Given the description of an element on the screen output the (x, y) to click on. 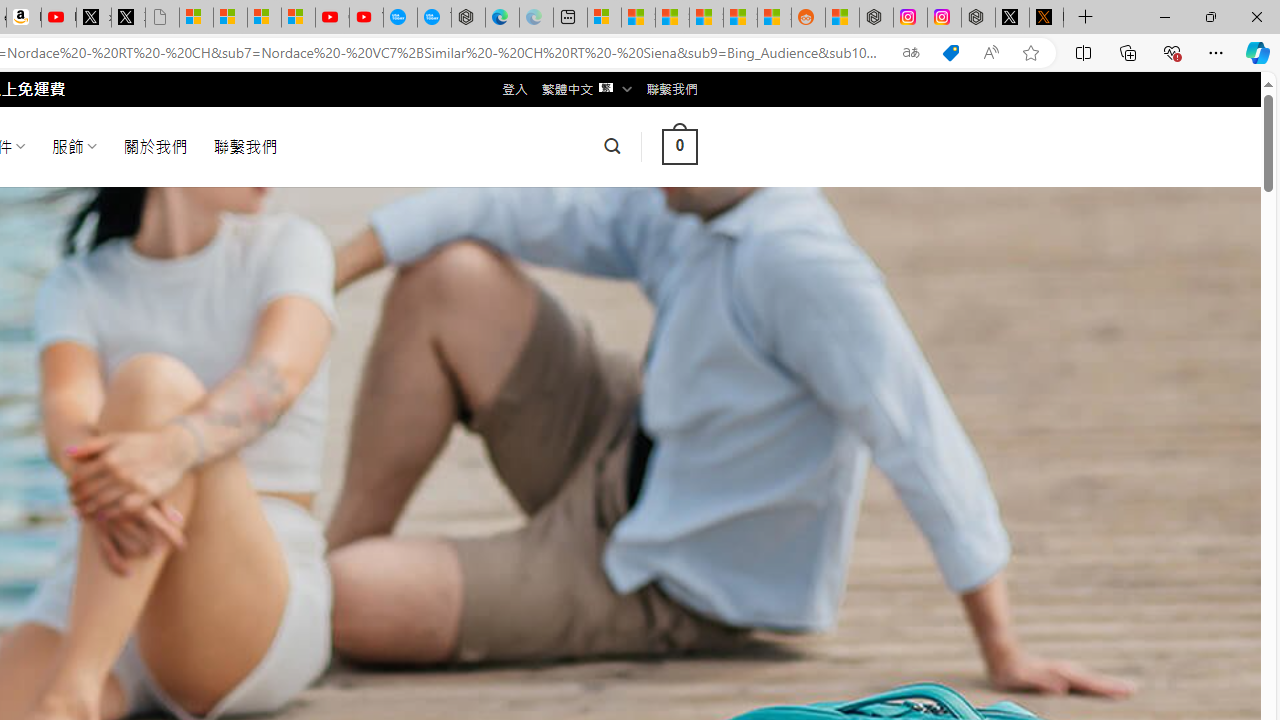
This site has coupons! Shopping in Microsoft Edge (950, 53)
Shanghai, China weather forecast | Microsoft Weather (638, 17)
Show translate options (910, 53)
Untitled (162, 17)
Day 1: Arriving in Yemen (surreal to be here) - YouTube (58, 17)
Nordace (@NordaceOfficial) / X (1012, 17)
